Given the description of an element on the screen output the (x, y) to click on. 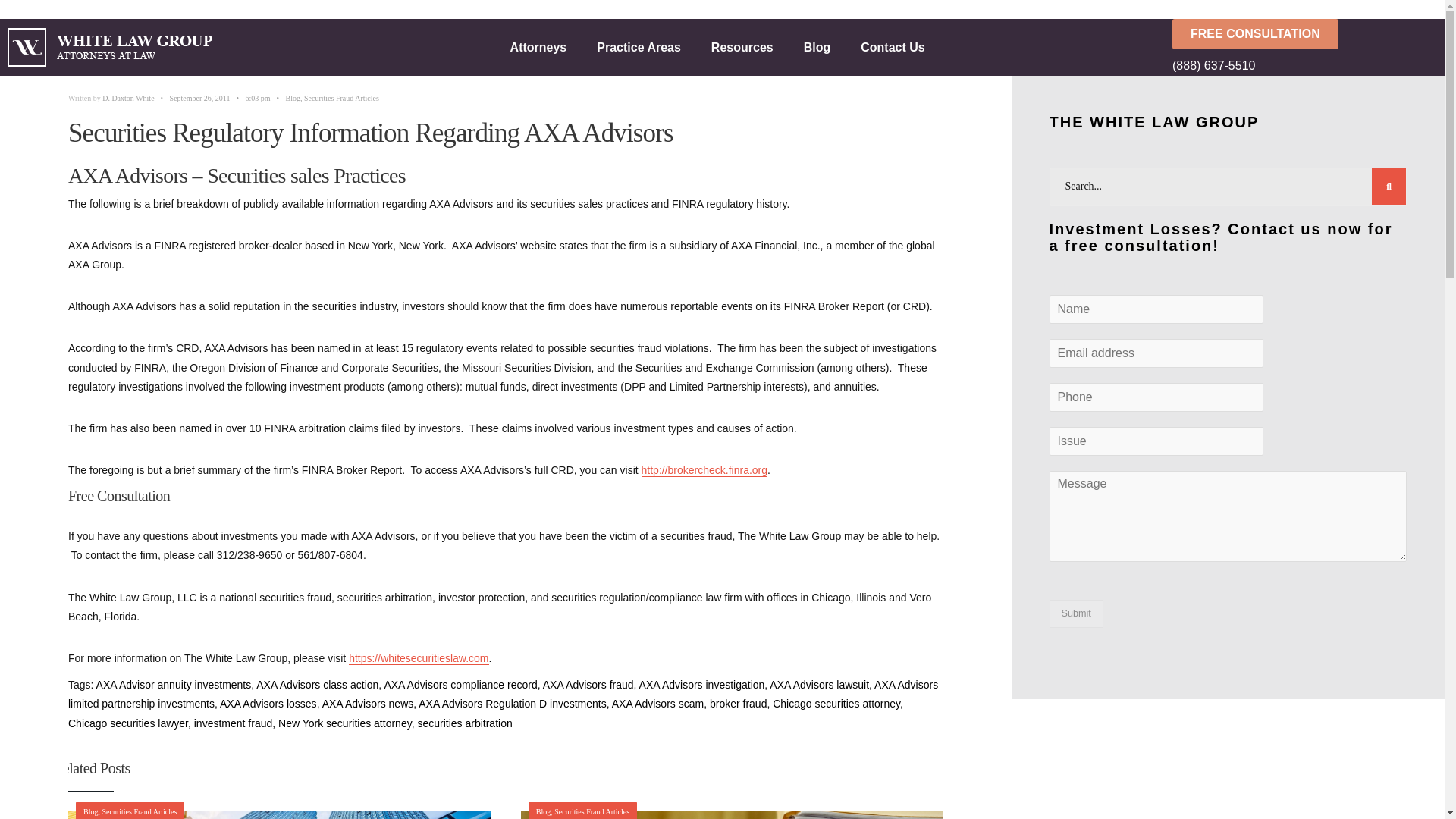
Contact Us (892, 47)
Posts by D. Daxton White (127, 98)
Attorneys (538, 47)
Resources (742, 47)
Blog (817, 47)
Practice Areas (637, 47)
The White Law Group - Securities Attorneys at Law (418, 658)
Search... (1228, 186)
